Given the description of an element on the screen output the (x, y) to click on. 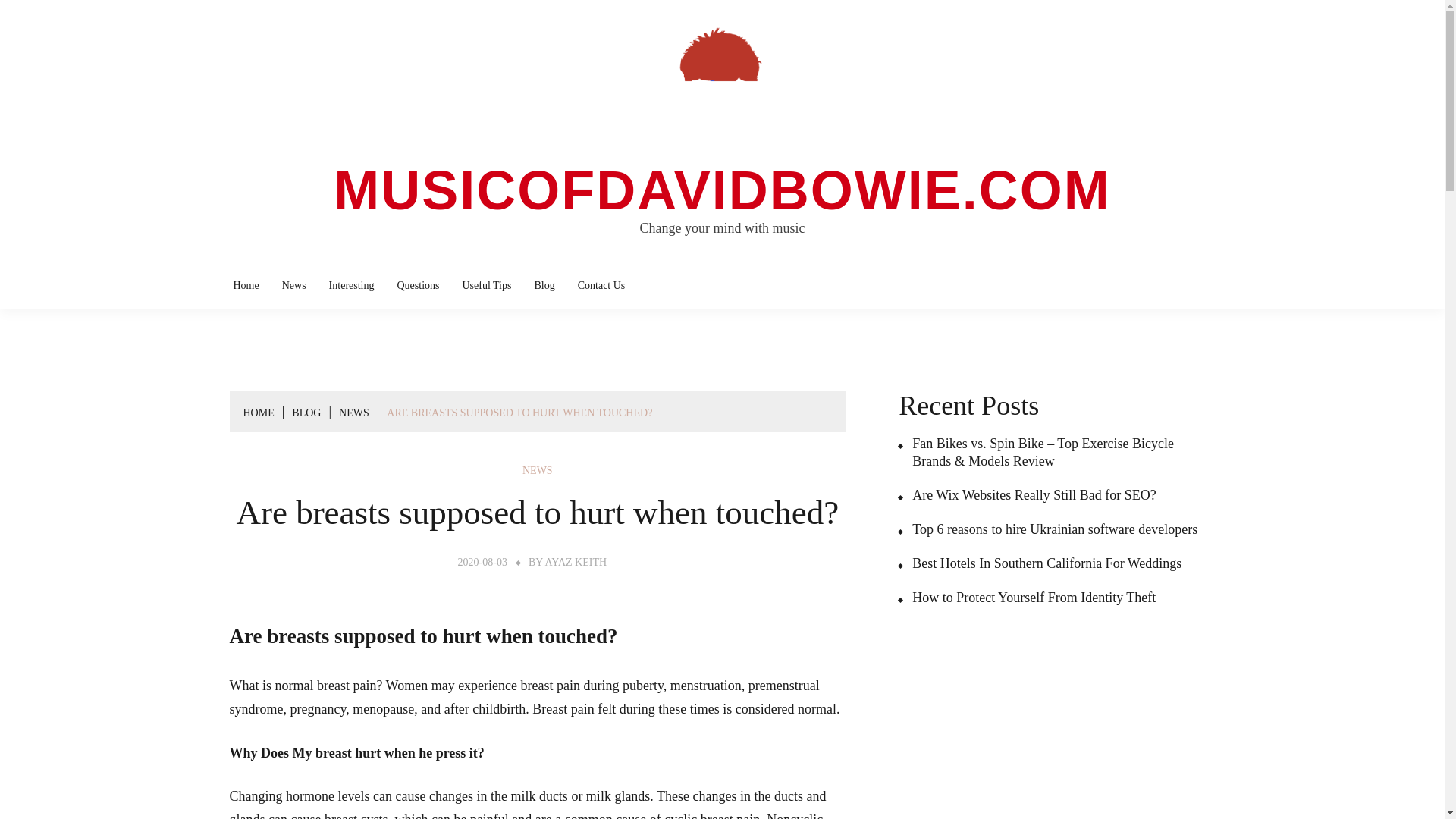
MUSICOFDAVIDBOWIE.COM (721, 189)
BLOG (306, 412)
Questions (417, 285)
Useful Tips (486, 285)
NEWS (354, 412)
ARE BREASTS SUPPOSED TO HURT WHEN TOUCHED? (519, 412)
2020-08-03 (482, 562)
NEWS (537, 470)
How to Protect Yourself From Identity Theft (1027, 597)
HOME (258, 412)
